Given the description of an element on the screen output the (x, y) to click on. 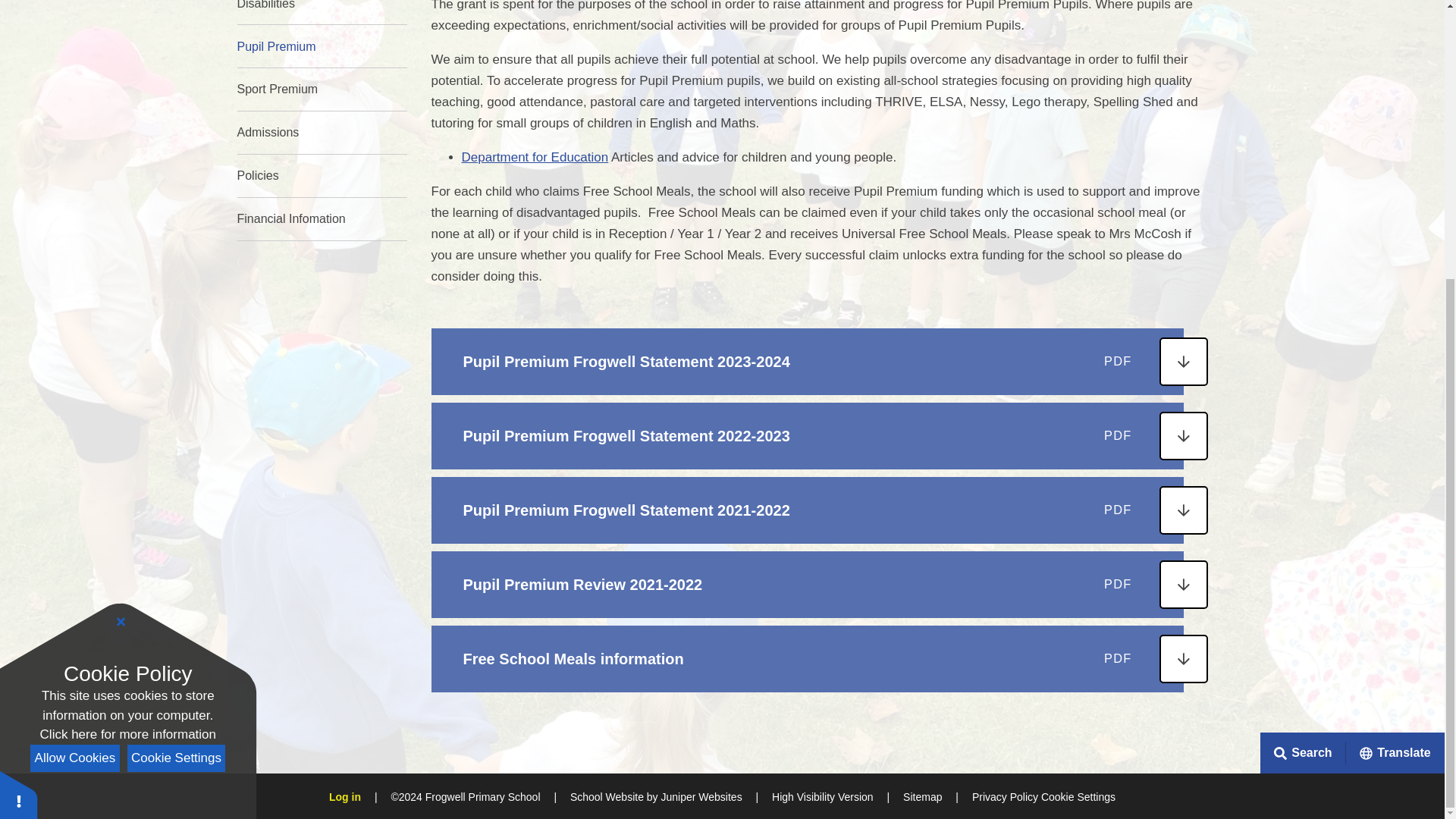
Allow Cookies (74, 343)
Cookie Settings (1078, 382)
Cookie Settings (176, 343)
See cookie policy (127, 320)
Search (1302, 338)
Search (1415, 337)
Cookie Settings (18, 379)
